Given the description of an element on the screen output the (x, y) to click on. 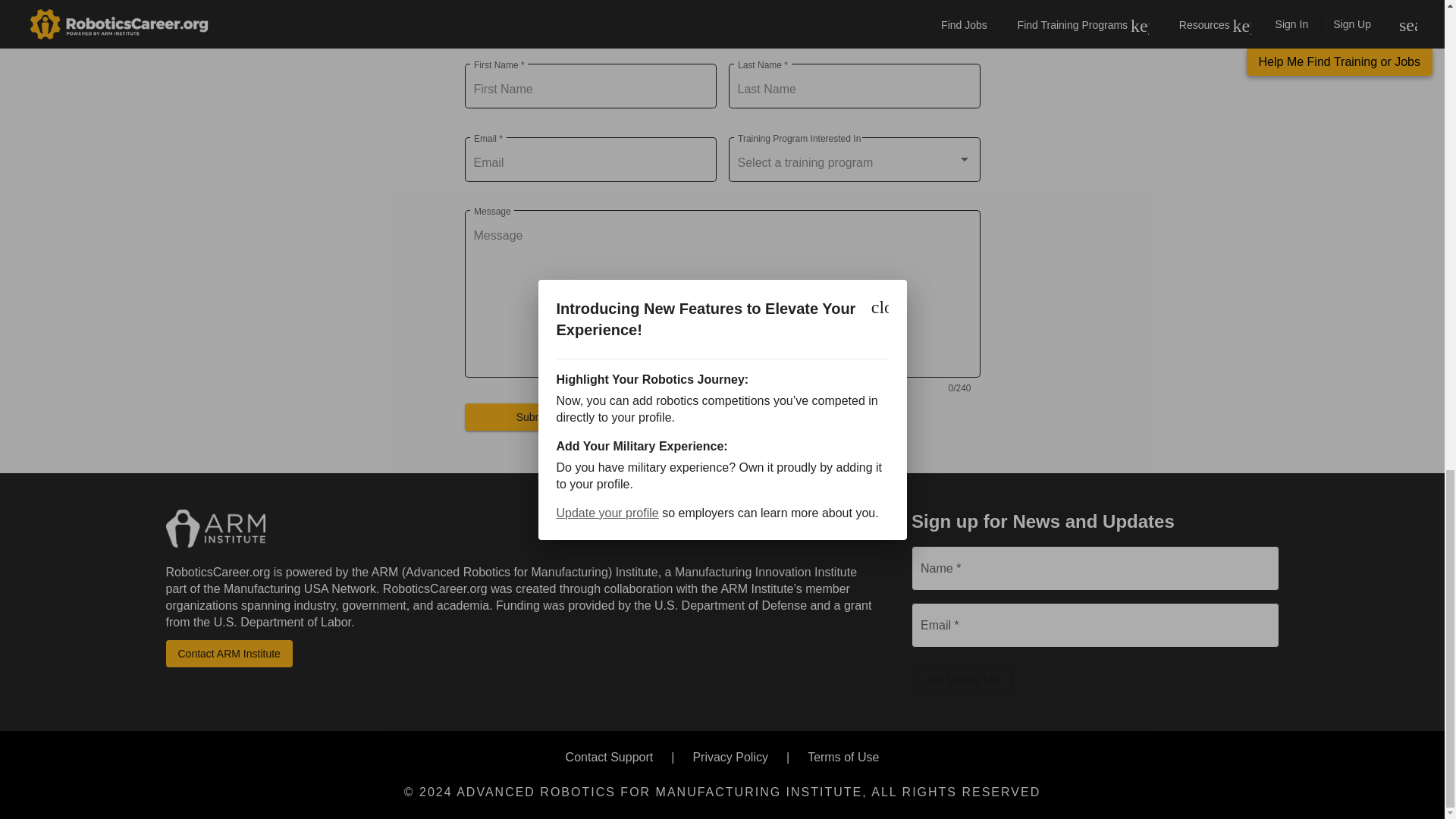
Contact ARM Institute (228, 653)
Join Mailing List (962, 679)
Terms of Use (843, 757)
Privacy Policy (730, 757)
Contact Support (609, 757)
Submit (531, 416)
